Given the description of an element on the screen output the (x, y) to click on. 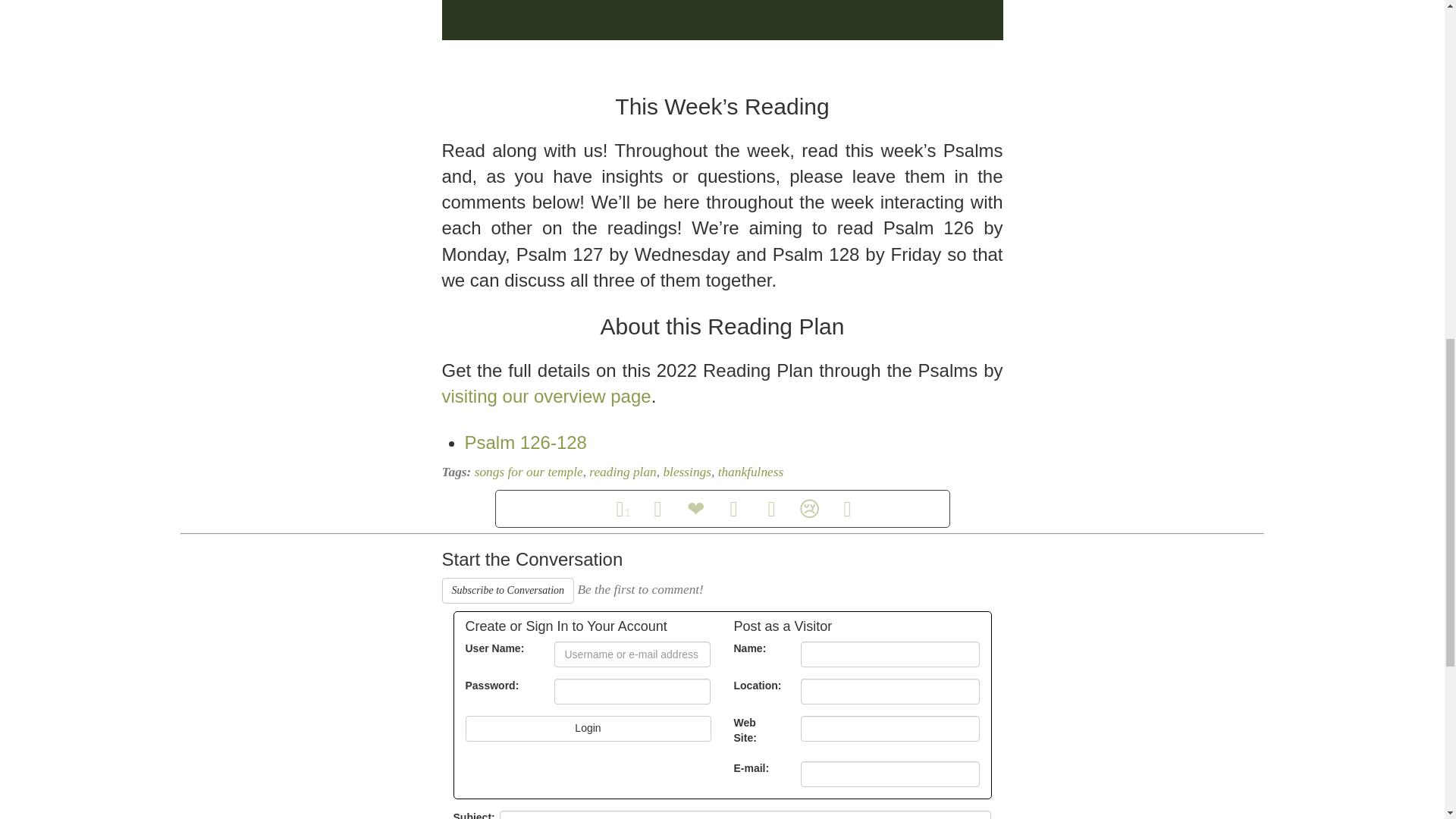
thankfulness (750, 472)
Login (588, 728)
blessings (686, 472)
Subscribe to Conversation (507, 590)
Psalm 126-128 (525, 442)
visiting our overview page (545, 395)
Login (588, 728)
reading plan (622, 472)
songs for our temple (528, 472)
